Given the description of an element on the screen output the (x, y) to click on. 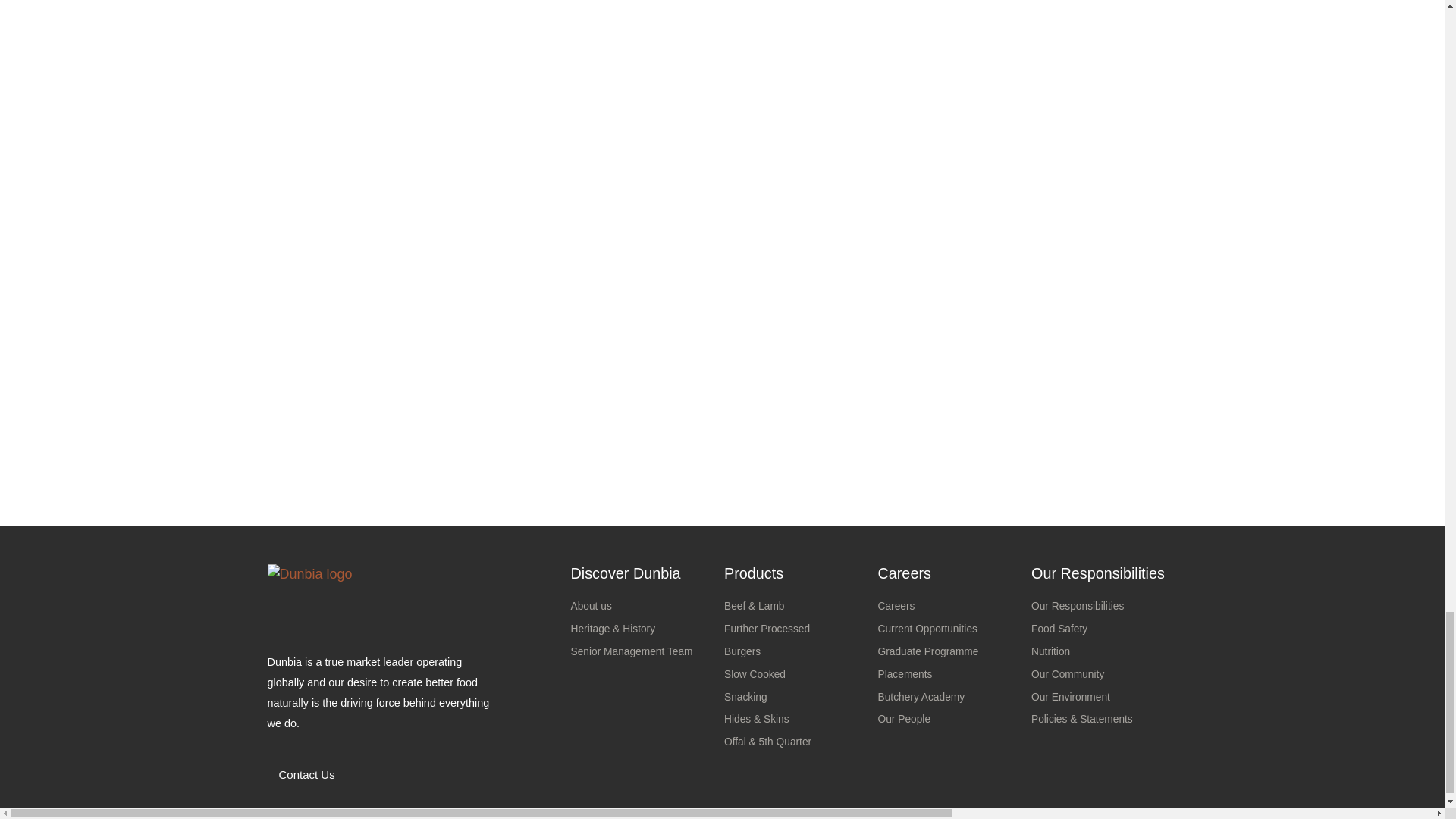
Contact us (300, 774)
